Given the description of an element on the screen output the (x, y) to click on. 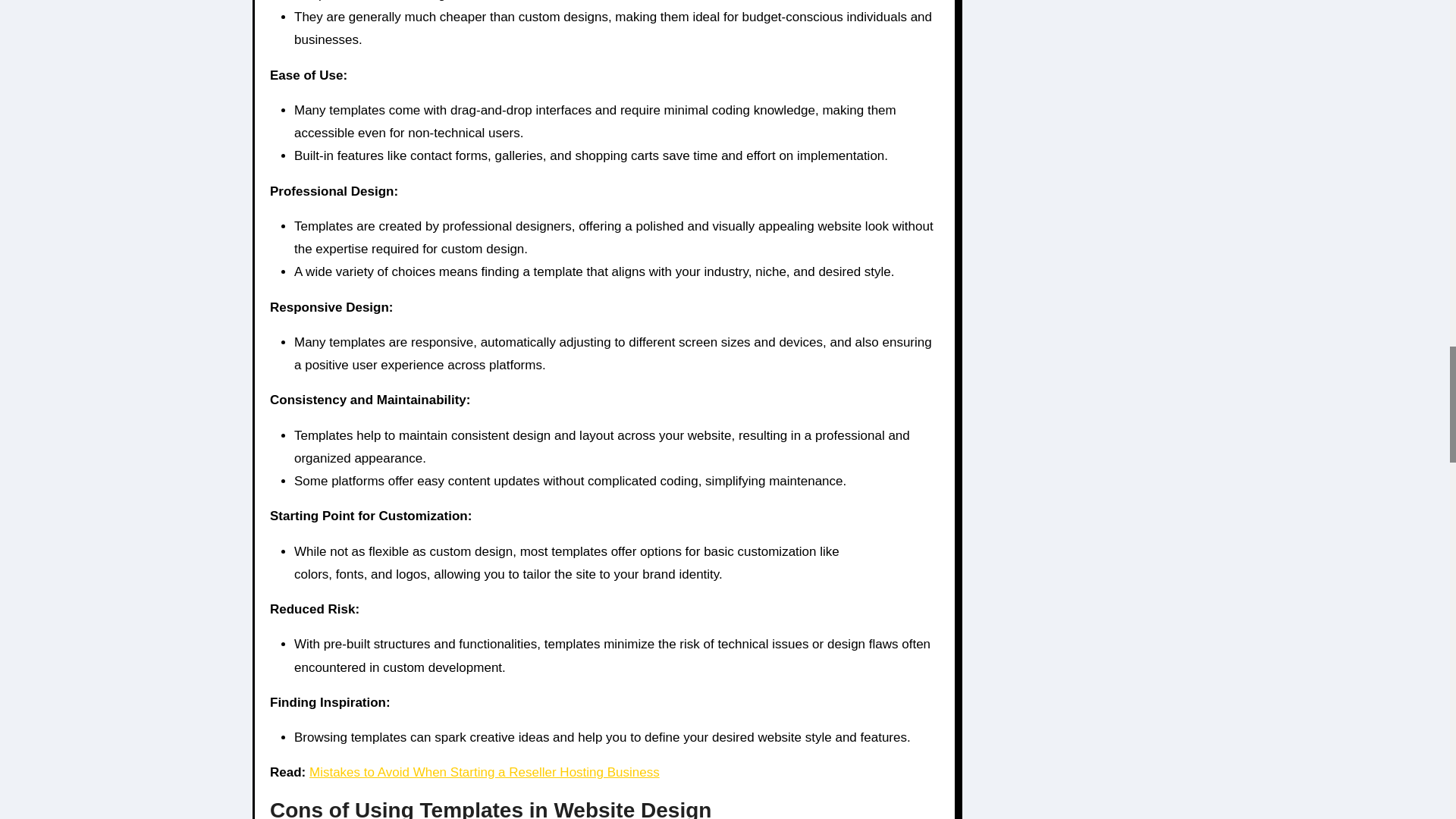
Mistakes to Avoid When Starting a Reseller Hosting Business (483, 771)
